Given the description of an element on the screen output the (x, y) to click on. 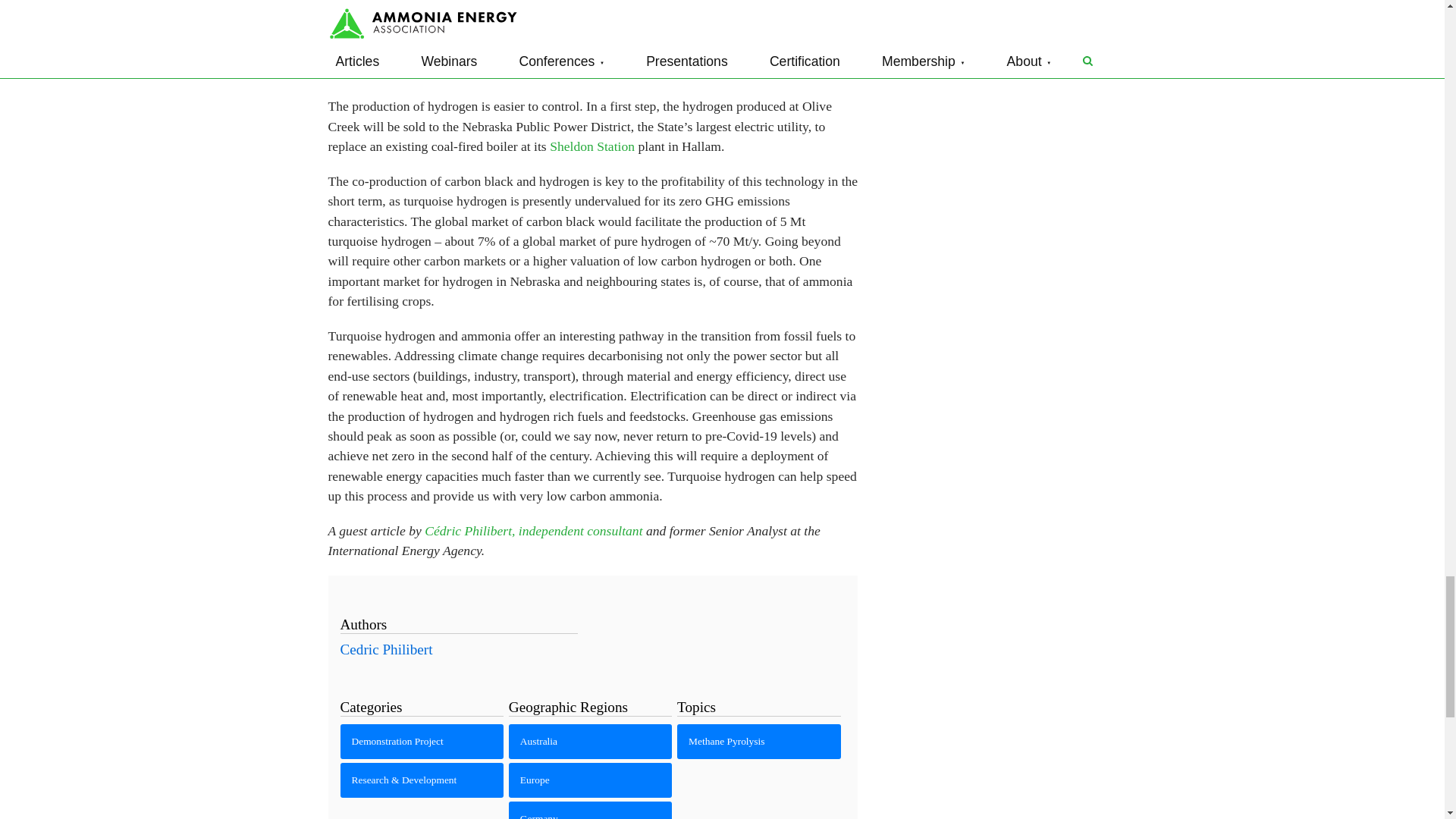
See other items in Demonstration Project Categories (421, 741)
See other items in Methane Pyrolysis Topics (759, 741)
See other items in Europe Geographic Regions (590, 779)
See other items in Germany Geographic Regions (590, 810)
See other items in Australia Geographic Regions (590, 741)
